Given the description of an element on the screen output the (x, y) to click on. 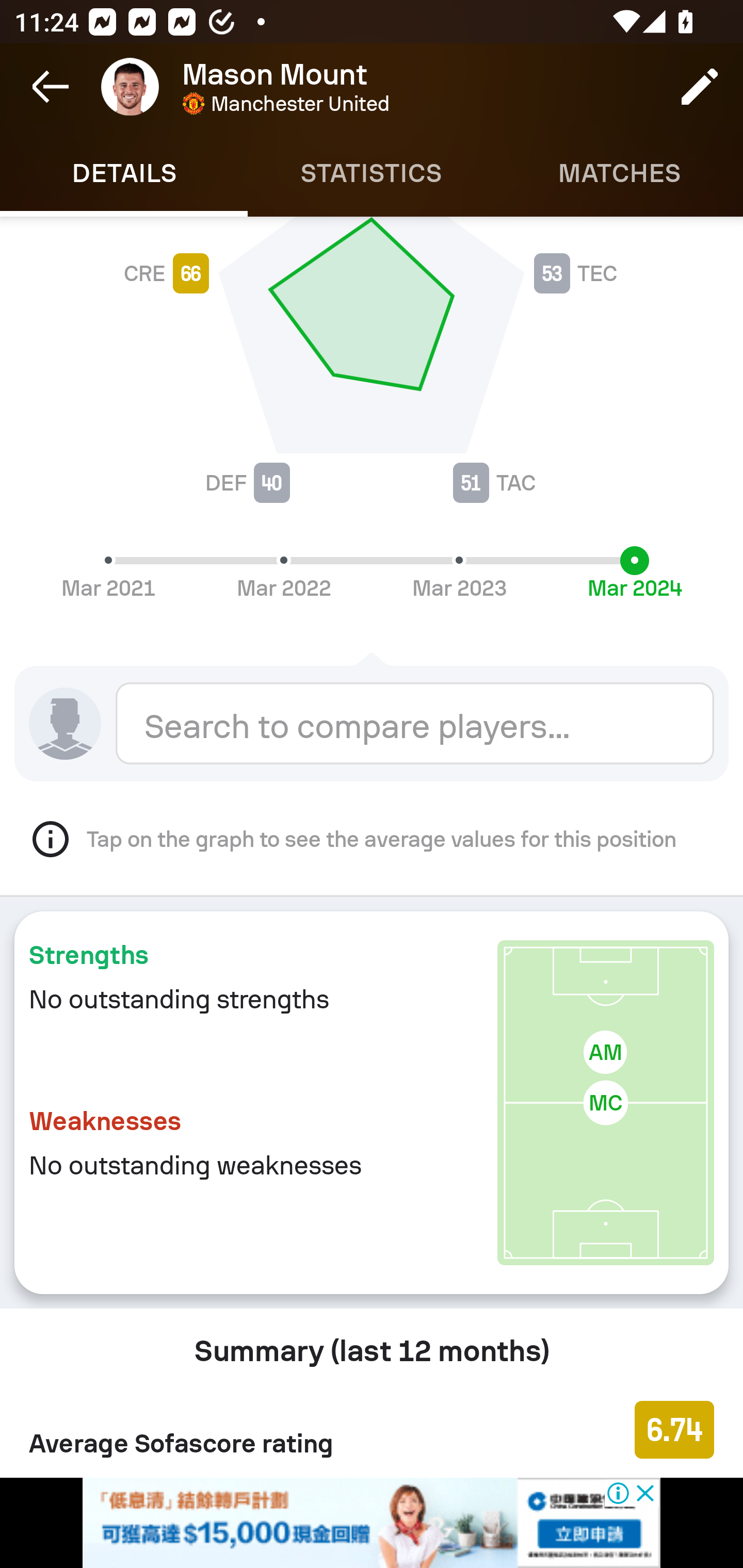
Navigate up (50, 86)
Edit (699, 86)
Statistics STATISTICS (371, 173)
Matches MATCHES (619, 173)
Search to compare players… (414, 723)
Advertisement (371, 1522)
